Given the description of an element on the screen output the (x, y) to click on. 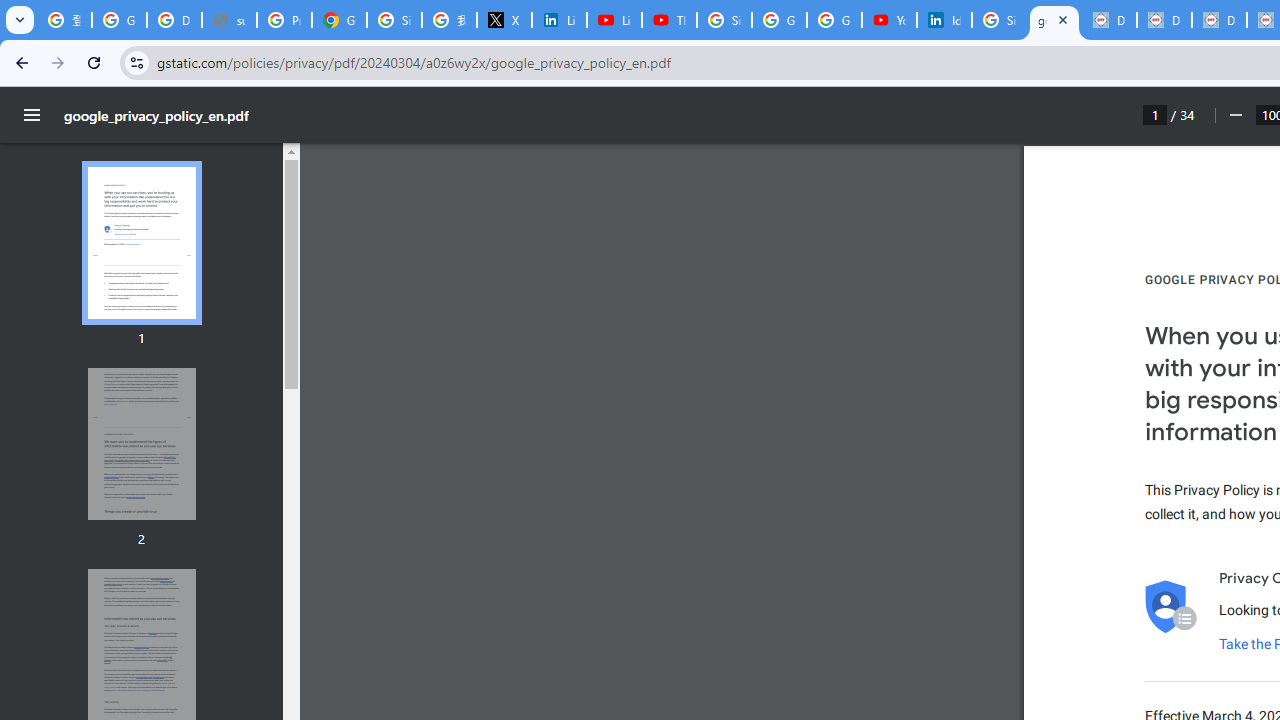
support.google.com - Network error (229, 20)
Data Privacy Framework (1108, 20)
Privacy Help Center - Policies Help (284, 20)
google_privacy_policy_en.pdf (1053, 20)
Sign in - Google Accounts (724, 20)
Menu (31, 115)
